Given the description of an element on the screen output the (x, y) to click on. 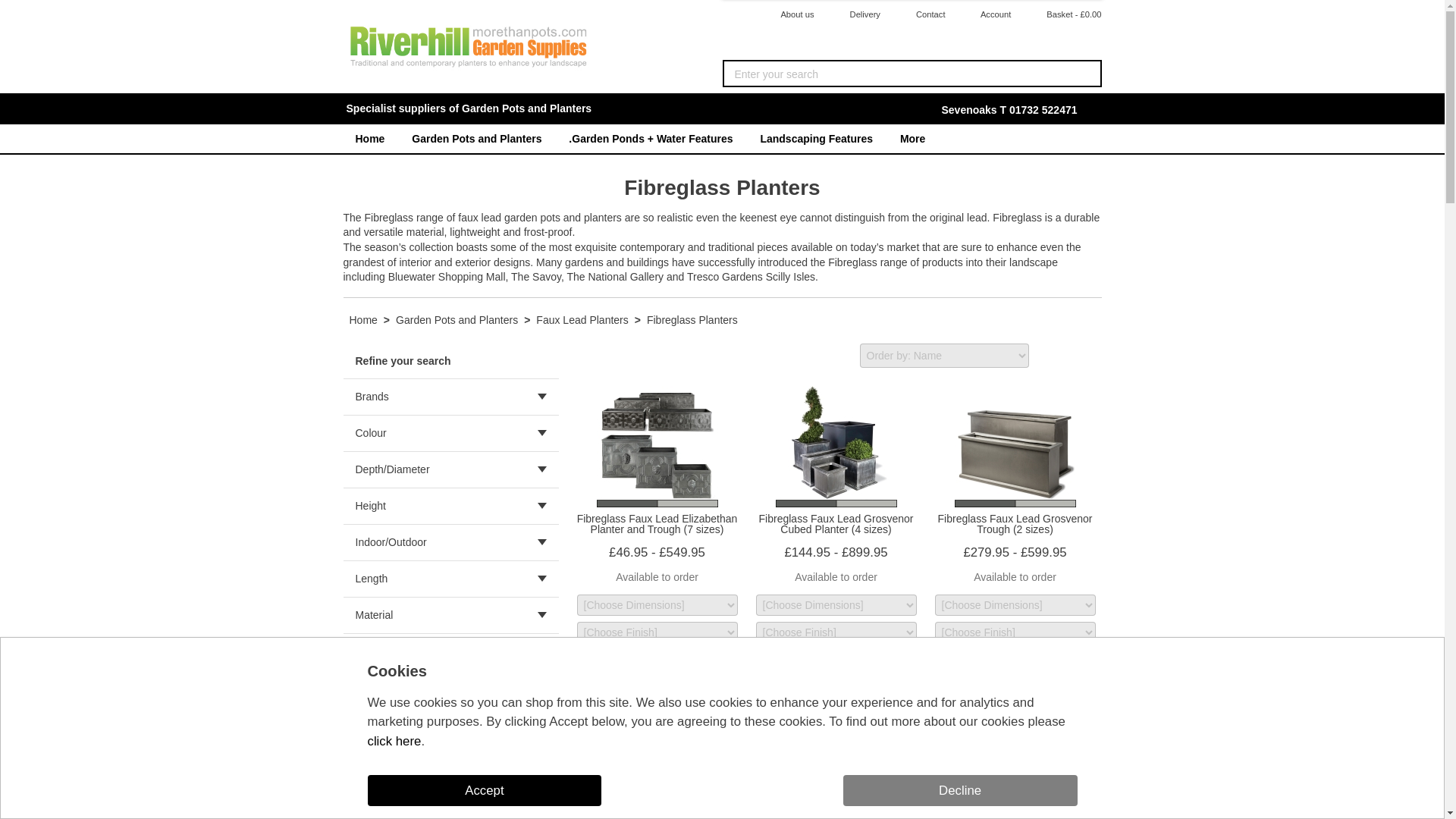
Account (984, 14)
Delivery (854, 14)
Garden Pots and Planters (475, 138)
Home (369, 138)
Contact (919, 14)
Sevenoaks T 01732 522471 (1008, 110)
About us (786, 14)
Search (1085, 73)
Thumbnail view (1052, 355)
List view (1088, 355)
